Given the description of an element on the screen output the (x, y) to click on. 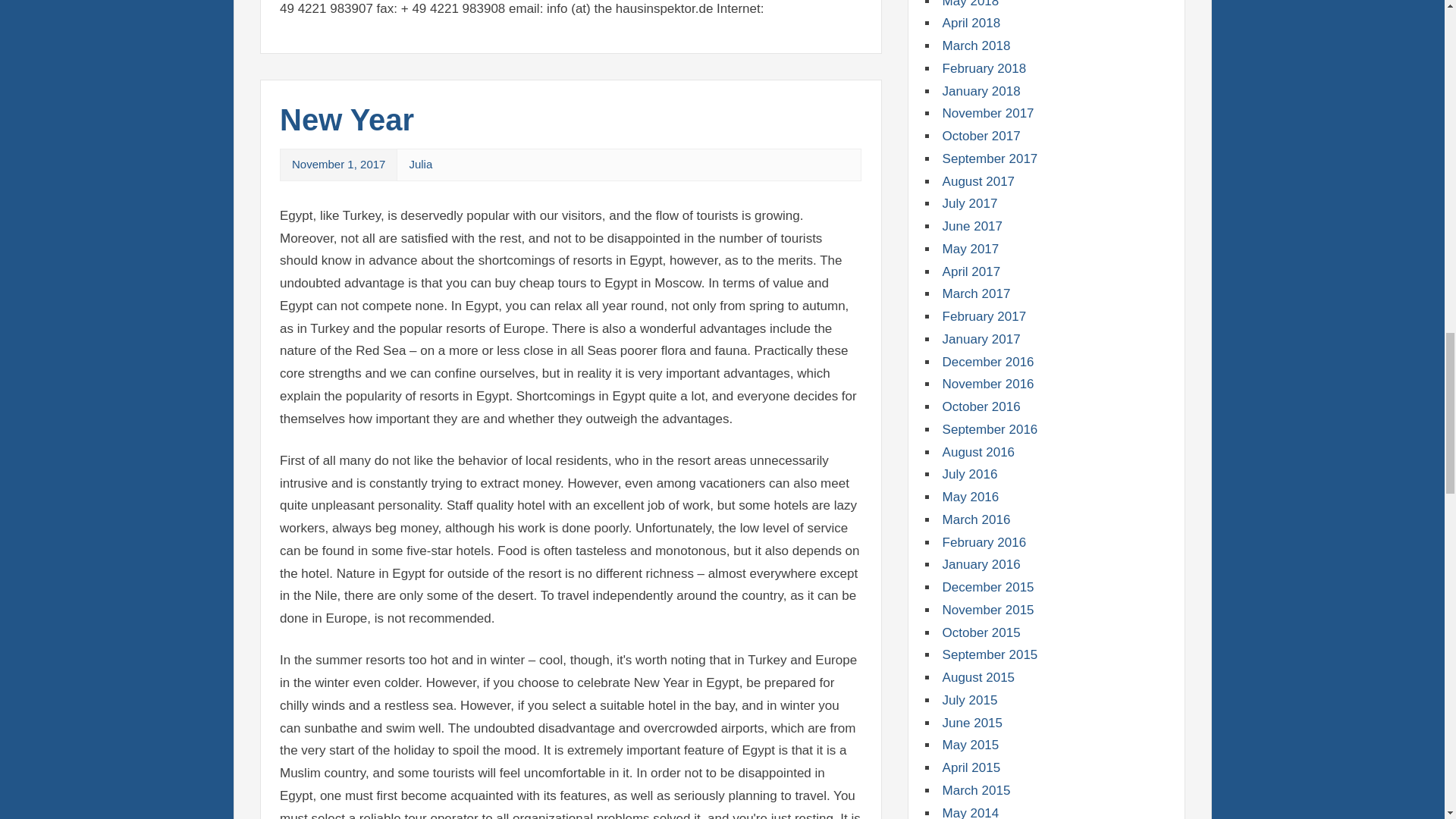
New Year (346, 119)
November 1, 2017 (338, 164)
View all posts by Julia (420, 164)
3:41 am (338, 164)
Julia (420, 164)
